Given the description of an element on the screen output the (x, y) to click on. 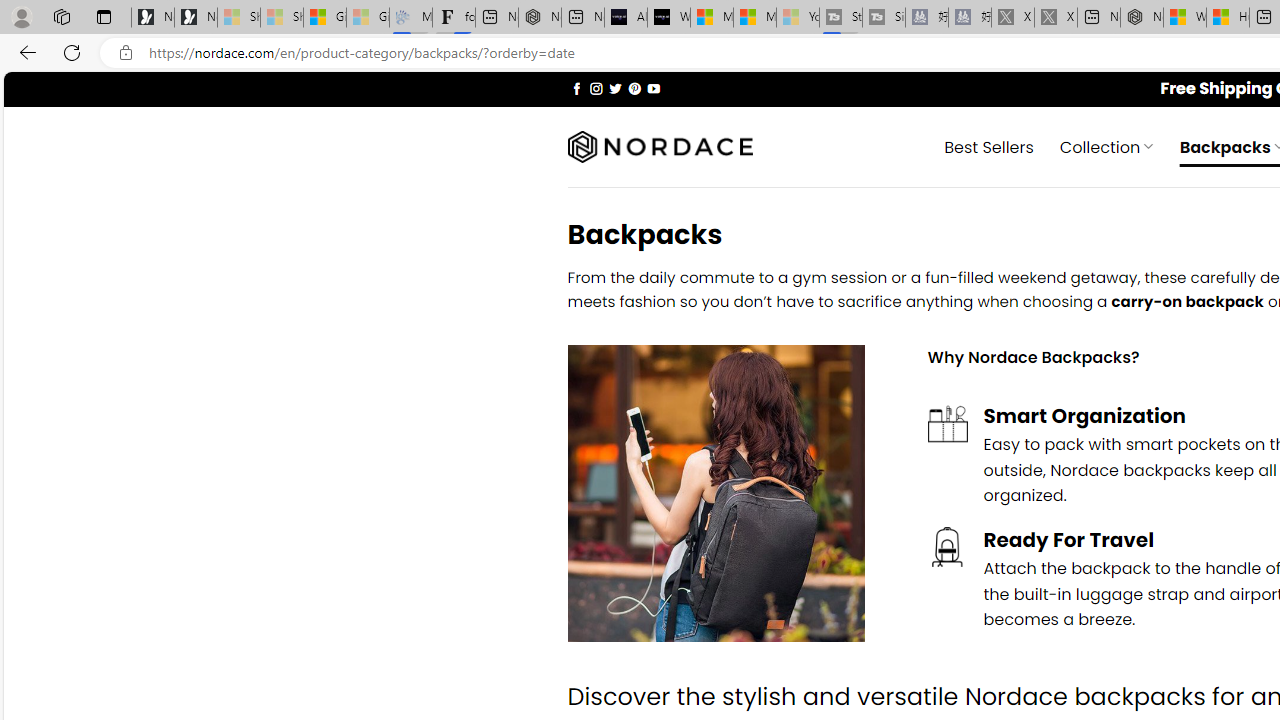
Wildlife - MSN (1184, 17)
AI Voice Changer for PC and Mac - Voice.ai (625, 17)
Follow on YouTube (653, 88)
Nordace - #1 Japanese Best-Seller - Siena Smart Backpack (539, 17)
Microsoft Start Sports (712, 17)
Nordace - My Account (1142, 17)
